Given the description of an element on the screen output the (x, y) to click on. 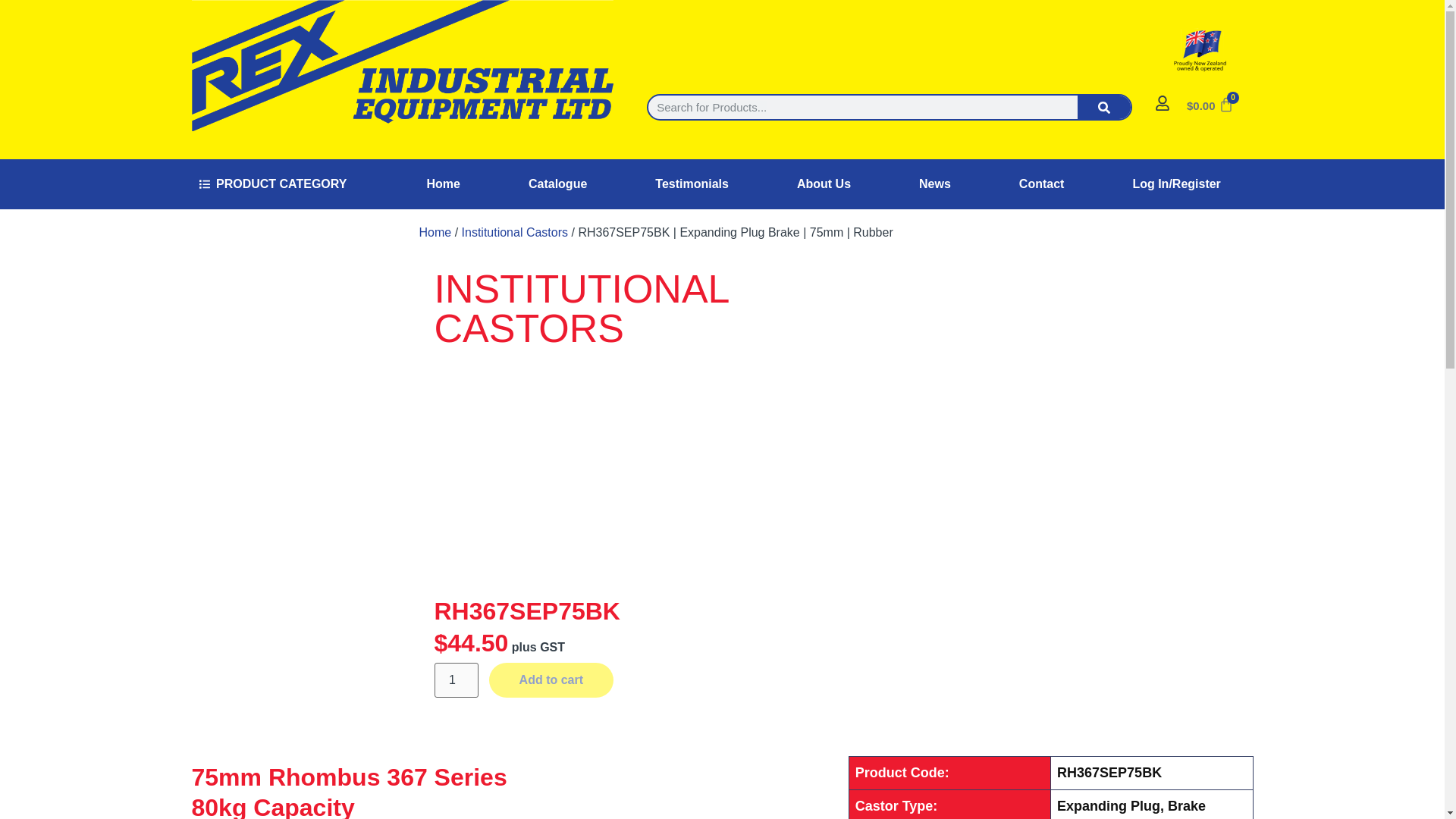
Contact (1041, 184)
Testimonials (692, 184)
1 (455, 679)
Home (443, 184)
Catalogue (557, 184)
About Us (823, 184)
News (934, 184)
New-Rex-Logo - Rex Industrial Equipment NZ (402, 65)
